Given the description of an element on the screen output the (x, y) to click on. 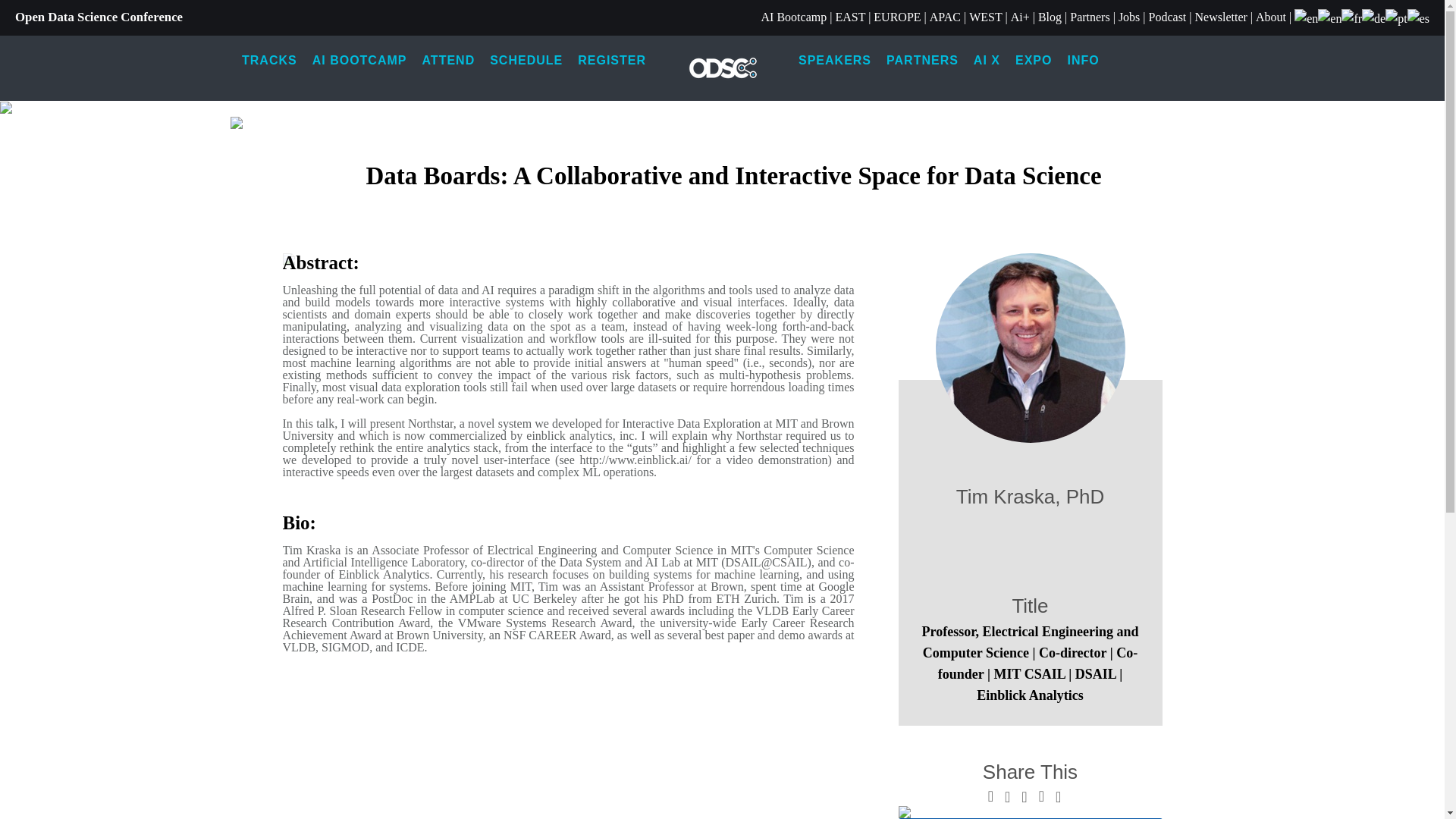
TRACKS (269, 60)
Jobs (1129, 16)
EAST (849, 16)
Newsletter (1221, 16)
Blog (1049, 16)
Jobs (1129, 16)
Newsletter (1221, 16)
Blog (1049, 16)
EAST (849, 16)
Partners (1089, 16)
